Given the description of an element on the screen output the (x, y) to click on. 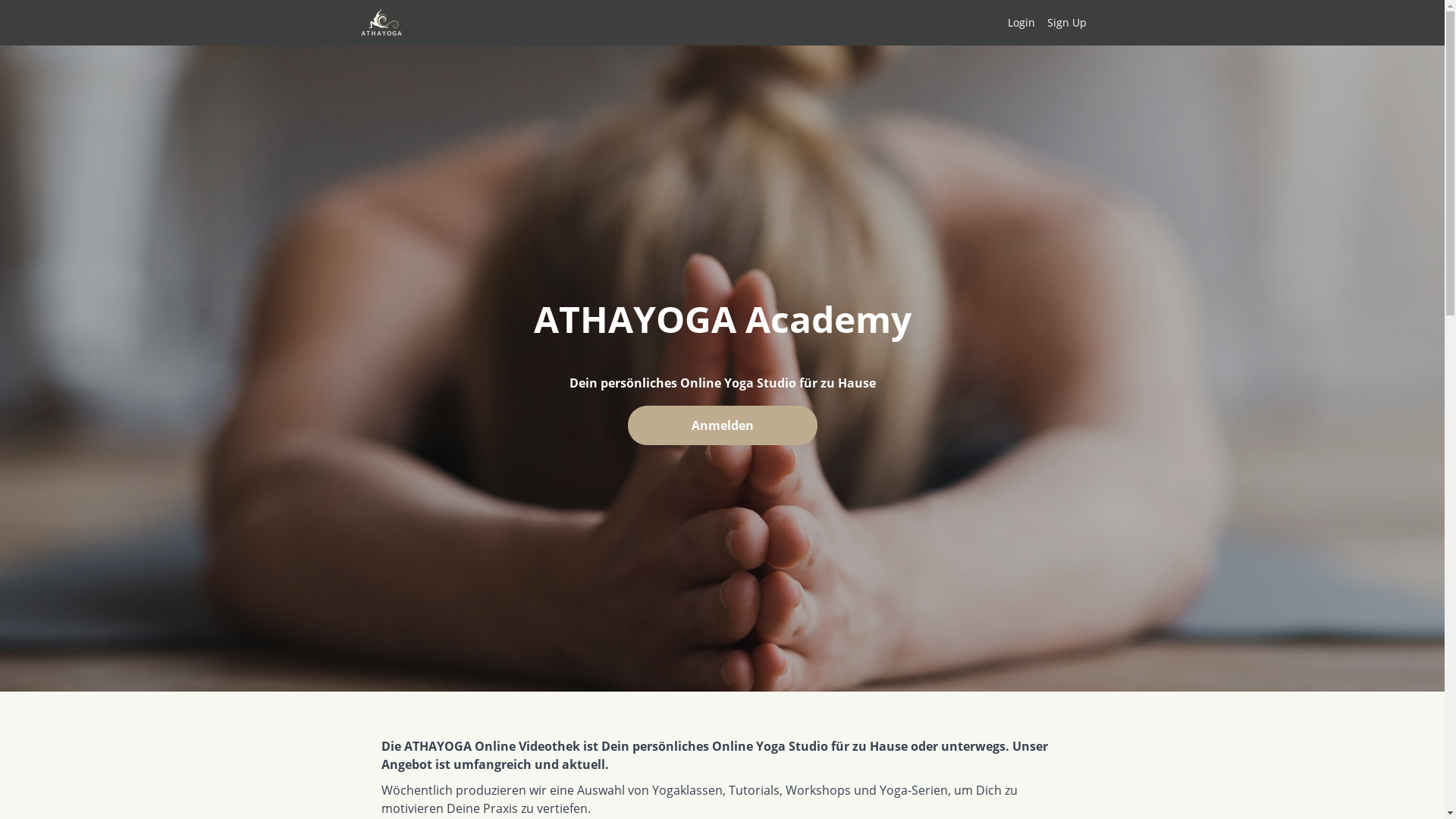
Anmelden Element type: text (722, 426)
Anmelden Element type: text (722, 425)
Login Element type: text (1020, 22)
Sign Up Element type: text (1065, 22)
